Given the description of an element on the screen output the (x, y) to click on. 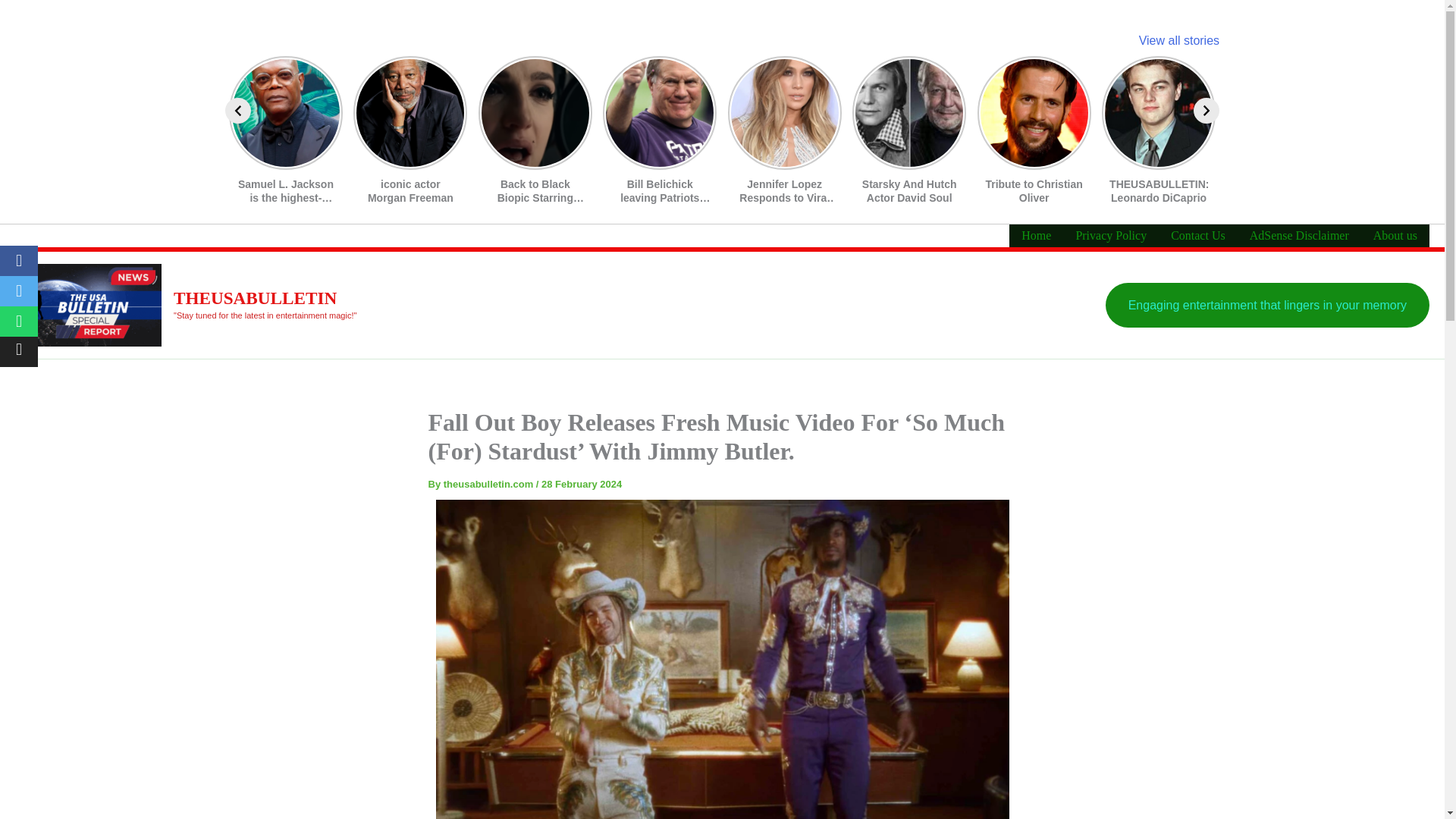
THEUSABULLETIN (254, 297)
Privacy Policy (1110, 235)
About us (1395, 235)
View all stories (1179, 40)
Contact Us (1197, 235)
Engaging entertainment that lingers in your memory (1267, 305)
AdSense Disclaimer (1299, 235)
View all posts by theusabulletin.com (489, 483)
theusabulletin.com (489, 483)
Home (1035, 235)
